Given the description of an element on the screen output the (x, y) to click on. 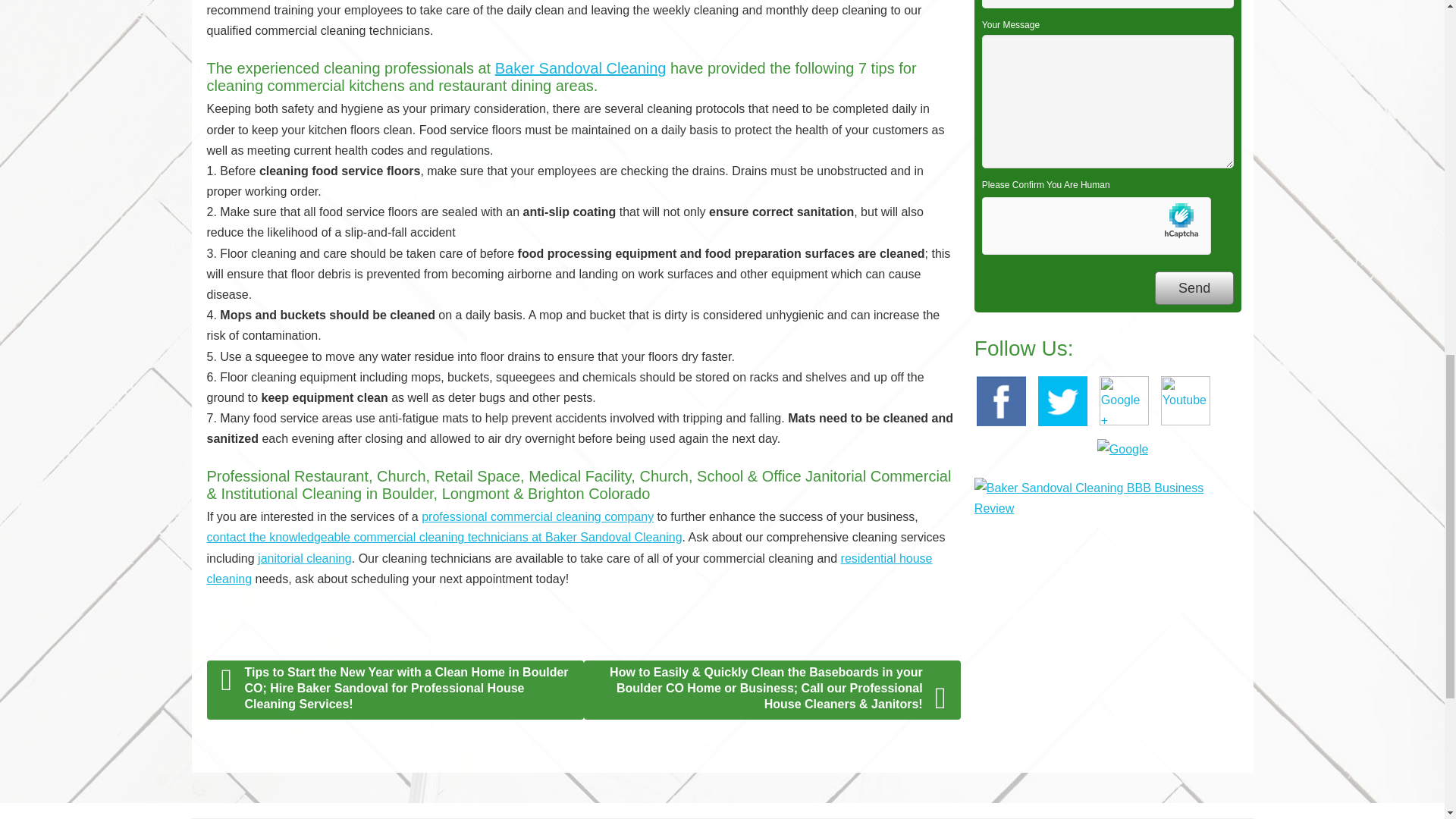
Send (1193, 288)
residential house cleaning (568, 568)
Baker Sandoval Cleaning (580, 67)
janitorial cleaning (304, 558)
professional commercial cleaning company (537, 516)
